Given the description of an element on the screen output the (x, y) to click on. 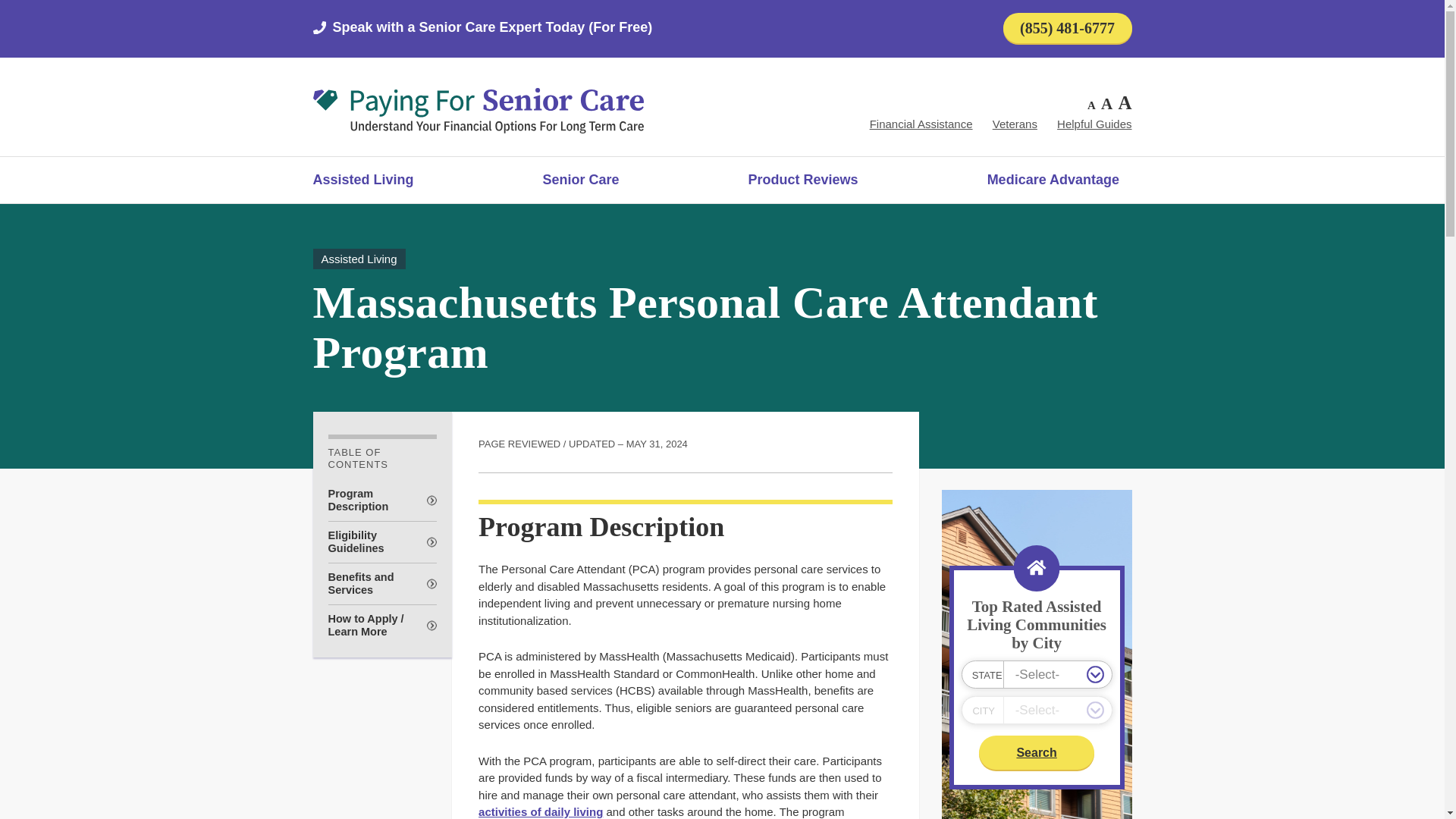
Financial Assistance (920, 123)
Senior Care (581, 179)
Helpful Guides (1094, 123)
Product Reviews (803, 179)
Veterans (1014, 123)
Assisted Living (363, 179)
